Given the description of an element on the screen output the (x, y) to click on. 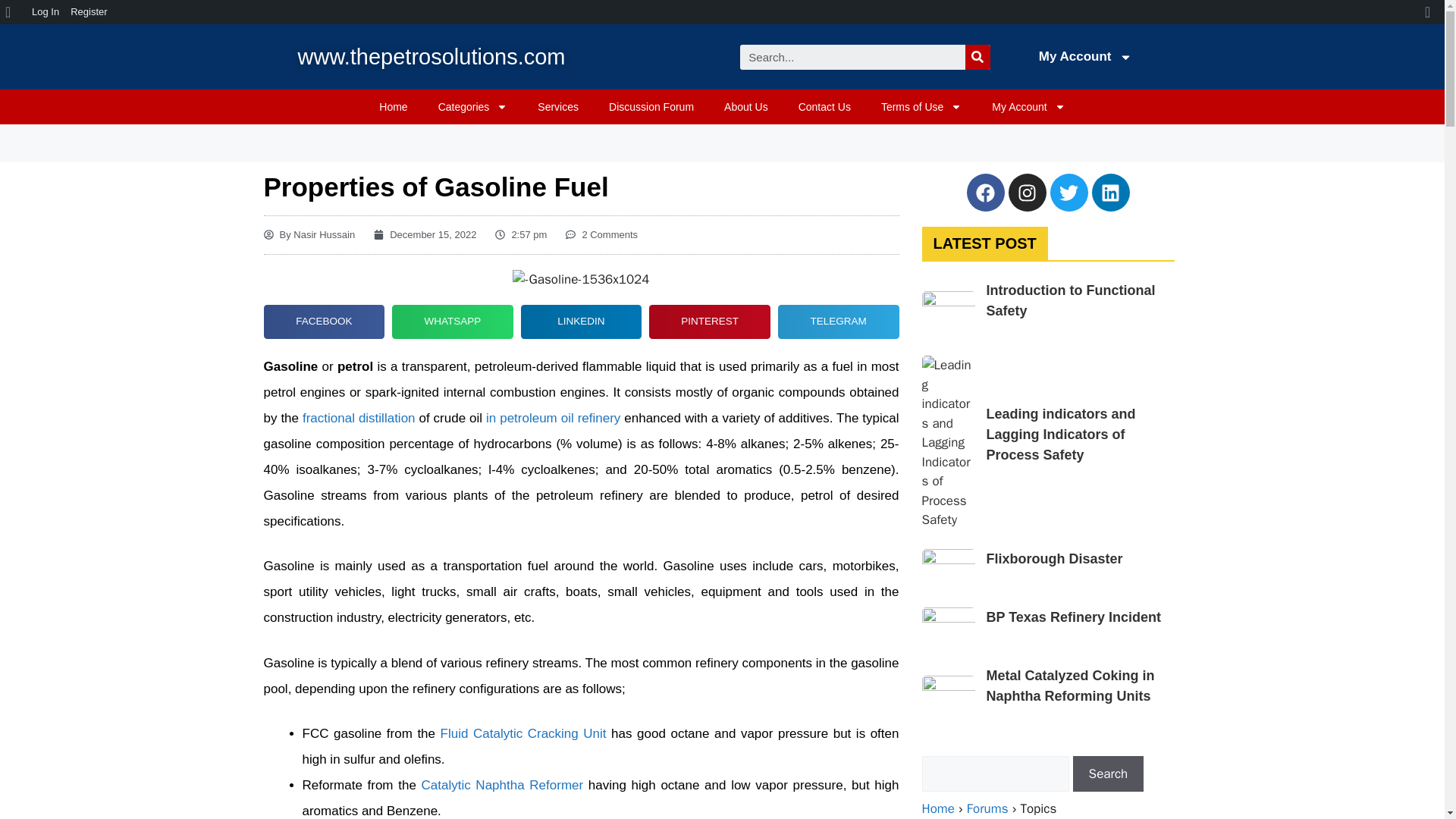
www.thepetrosolutions.com (430, 55)
Search (852, 56)
Discussion Forum (651, 106)
Contact Us (824, 106)
My Account (1028, 106)
Home (393, 106)
My Account (1085, 56)
Categories (472, 106)
Terms of Use (921, 106)
Services (558, 106)
